Given the description of an element on the screen output the (x, y) to click on. 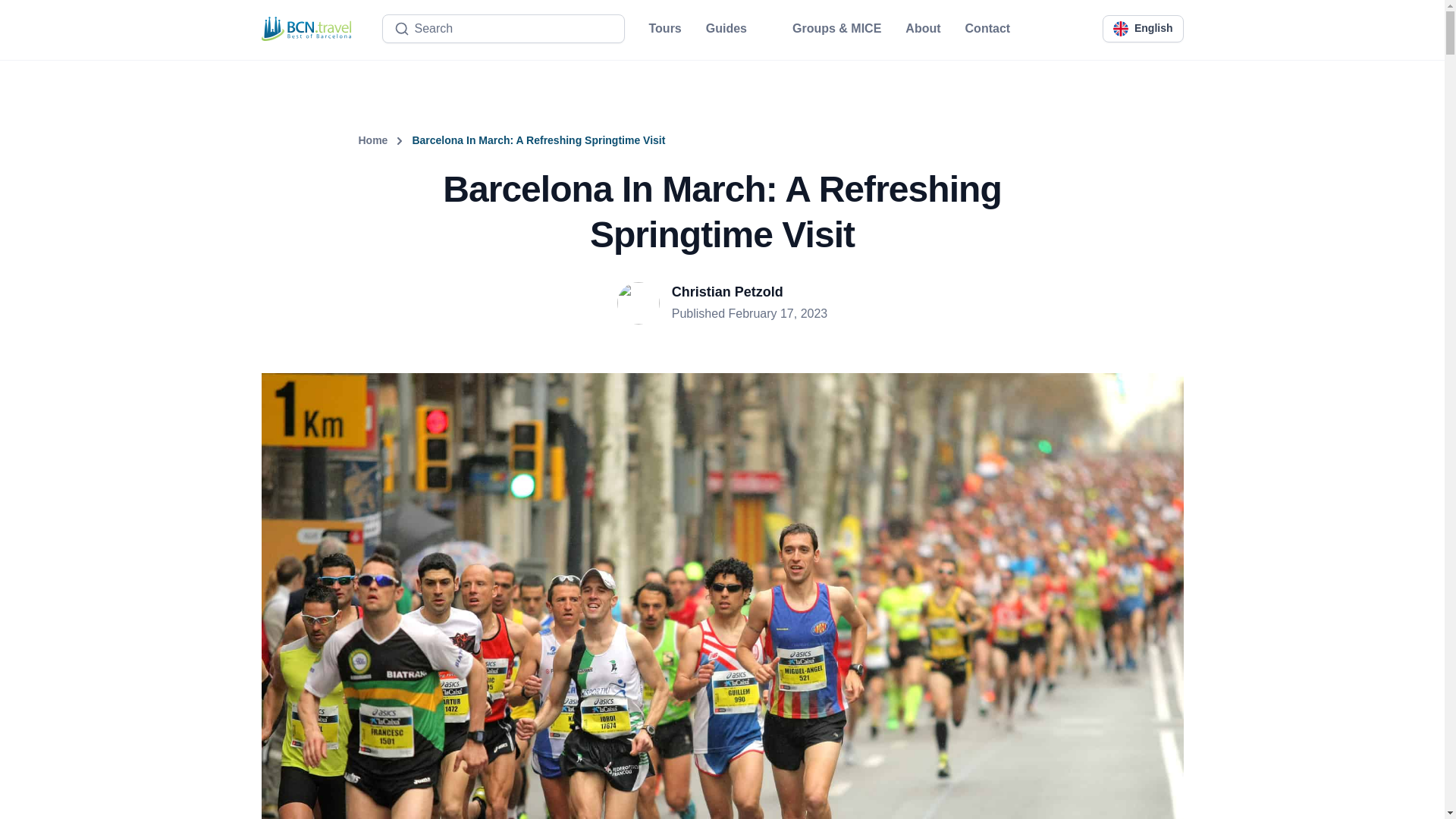
About (922, 28)
Guides (737, 28)
Tours (665, 28)
English (1120, 28)
BCN.travel (305, 28)
Contact (987, 28)
English (1143, 28)
Home (385, 140)
English (1143, 28)
